Given the description of an element on the screen output the (x, y) to click on. 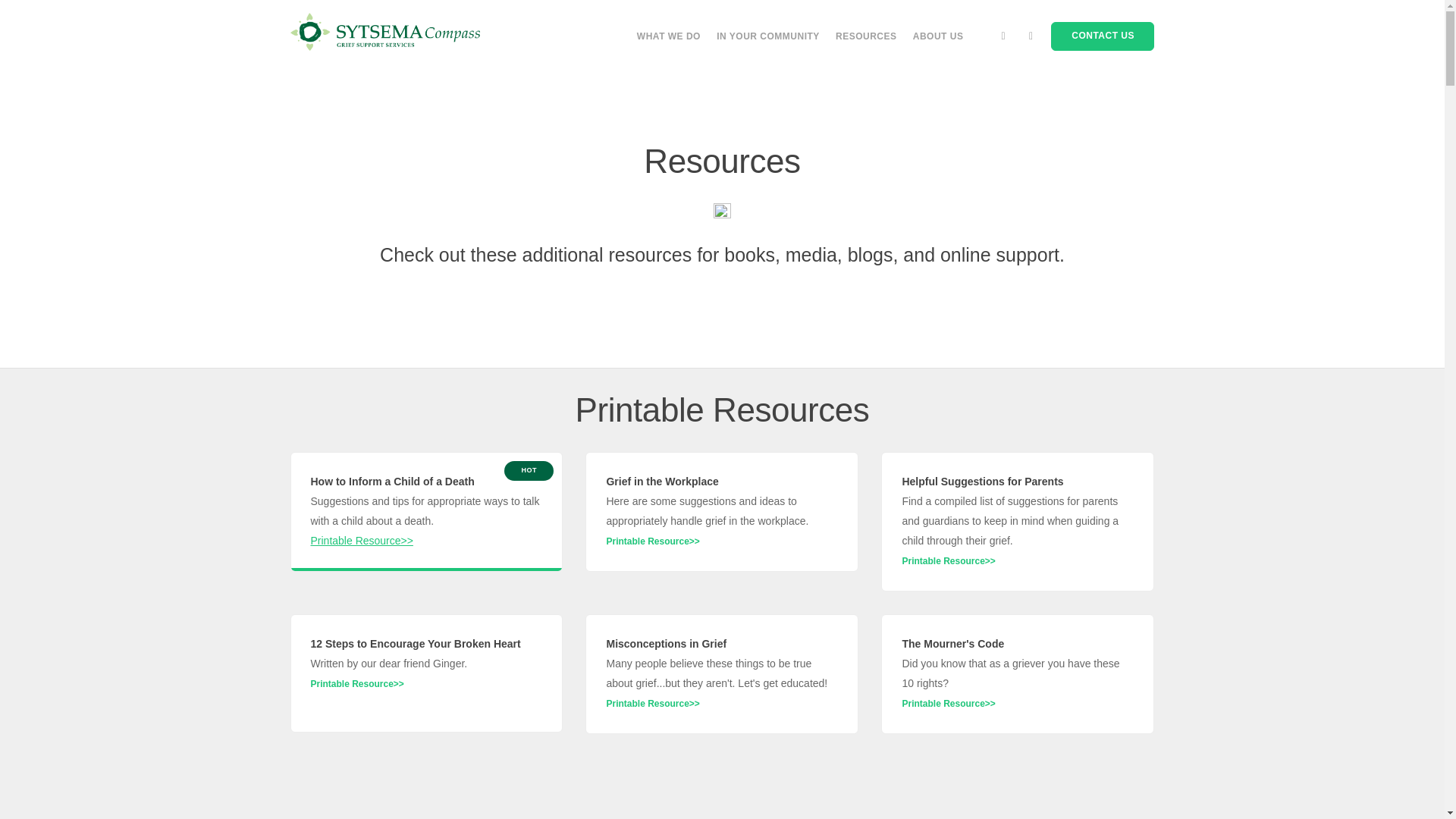
WHAT WE DO (668, 36)
ABOUT US (937, 36)
IN YOUR COMMUNITY (767, 36)
RESOURCES (865, 36)
CONTACT US (1102, 36)
